Given the description of an element on the screen output the (x, y) to click on. 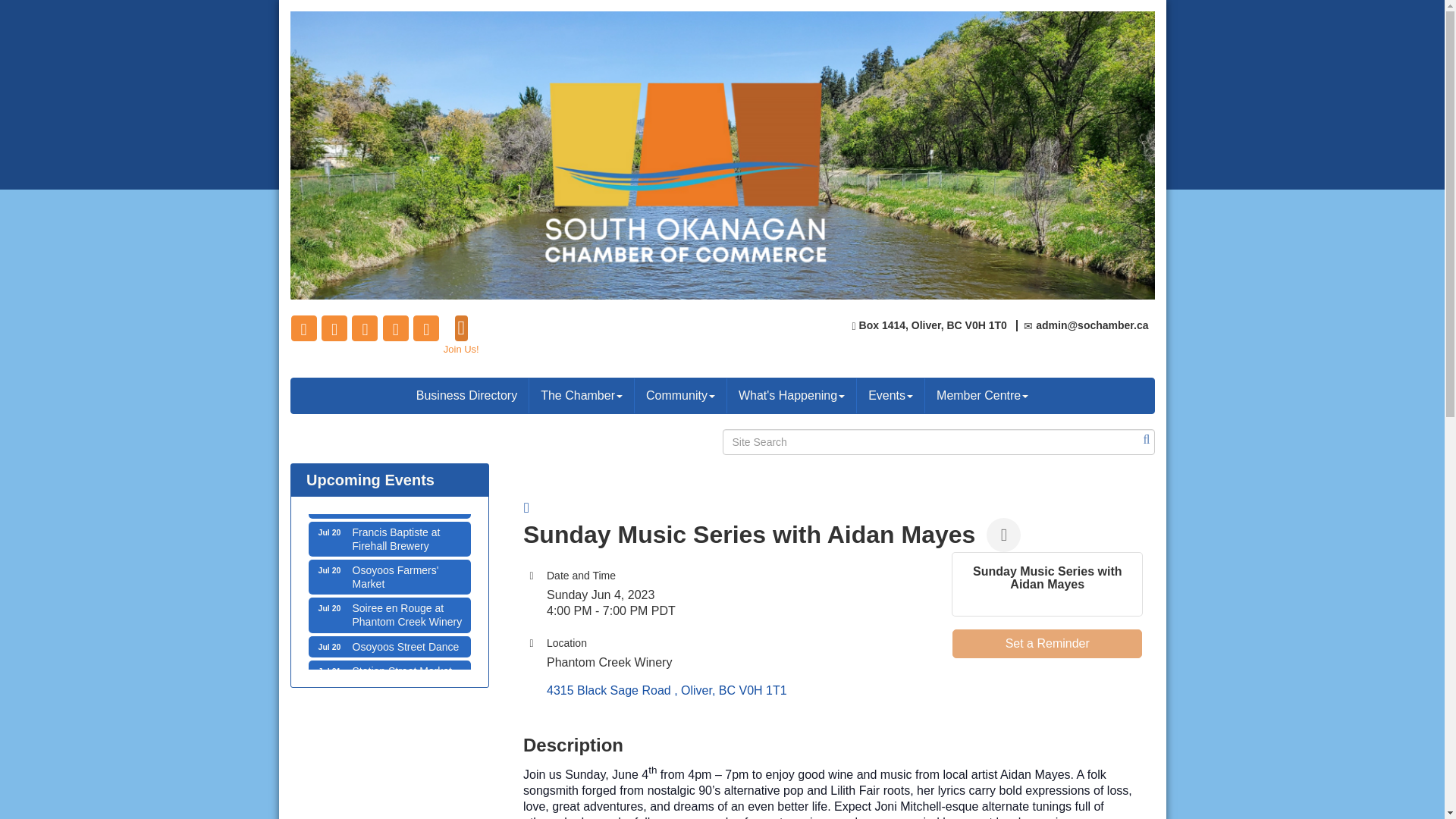
Jul 20 (388, 677)
Jul 20 (330, 646)
Jul 20 (330, 570)
Join Us! (388, 614)
Station Street Market, Oliver (330, 531)
Icon Link (461, 334)
Member Centre (388, 677)
Events (334, 328)
Icon Link (981, 395)
Osoyoos Farmers' Market (890, 395)
Soiree en Rouge at Phantom Creek Winery (304, 328)
Jul 20 (388, 576)
